Given the description of an element on the screen output the (x, y) to click on. 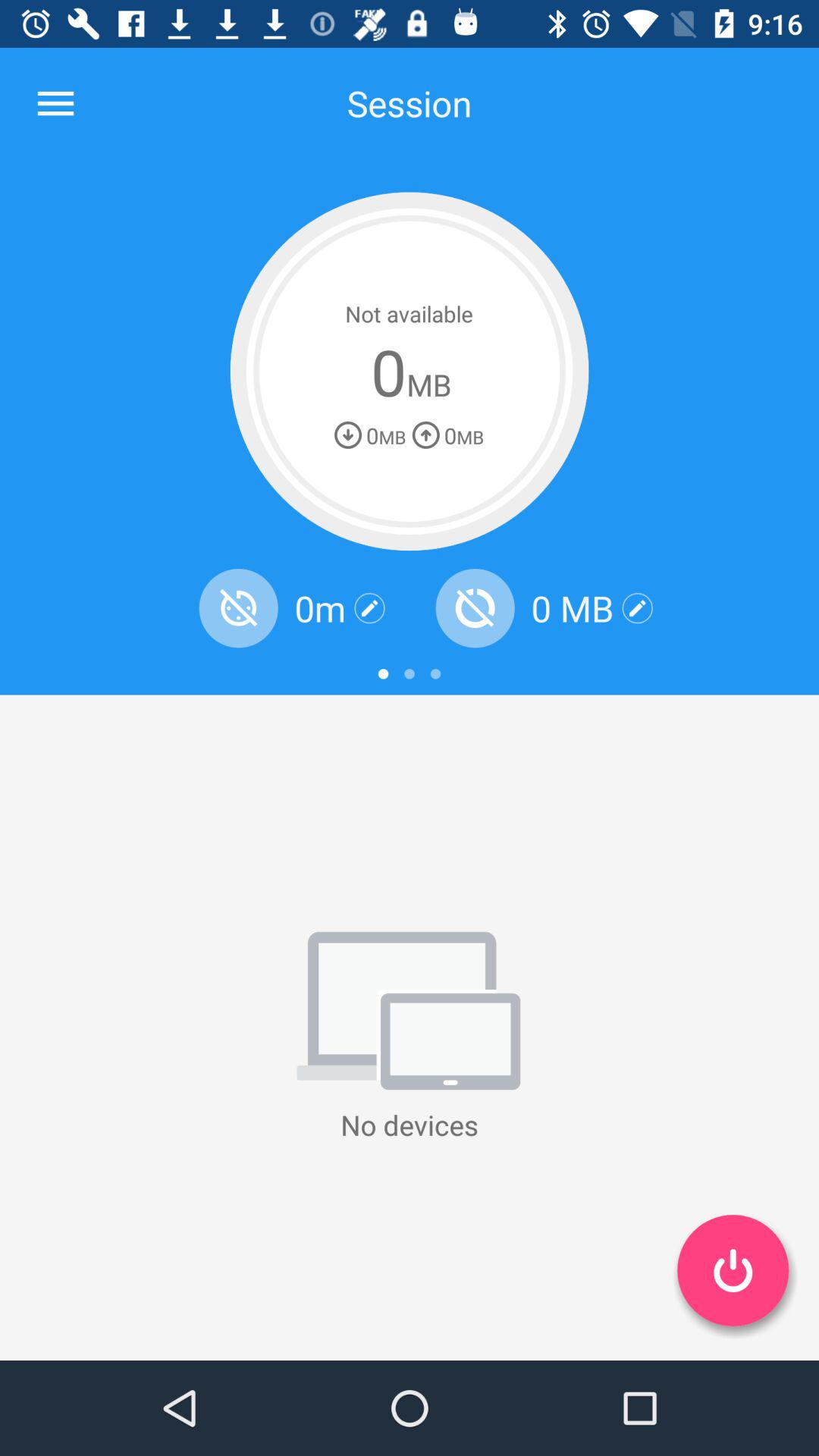
jump until 0m (319, 608)
